Given the description of an element on the screen output the (x, y) to click on. 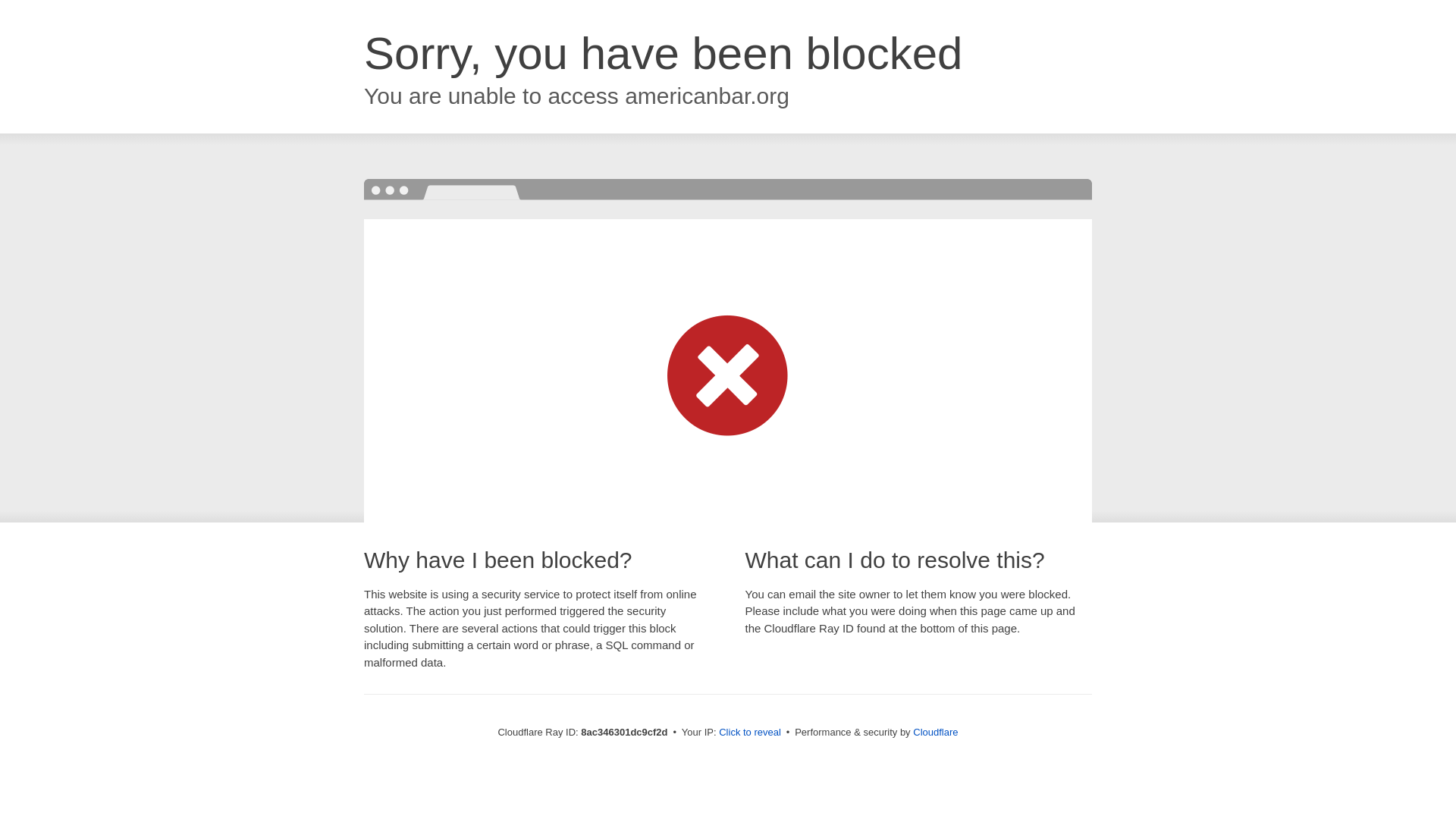
Cloudflare (935, 731)
Click to reveal (749, 732)
